Given the description of an element on the screen output the (x, y) to click on. 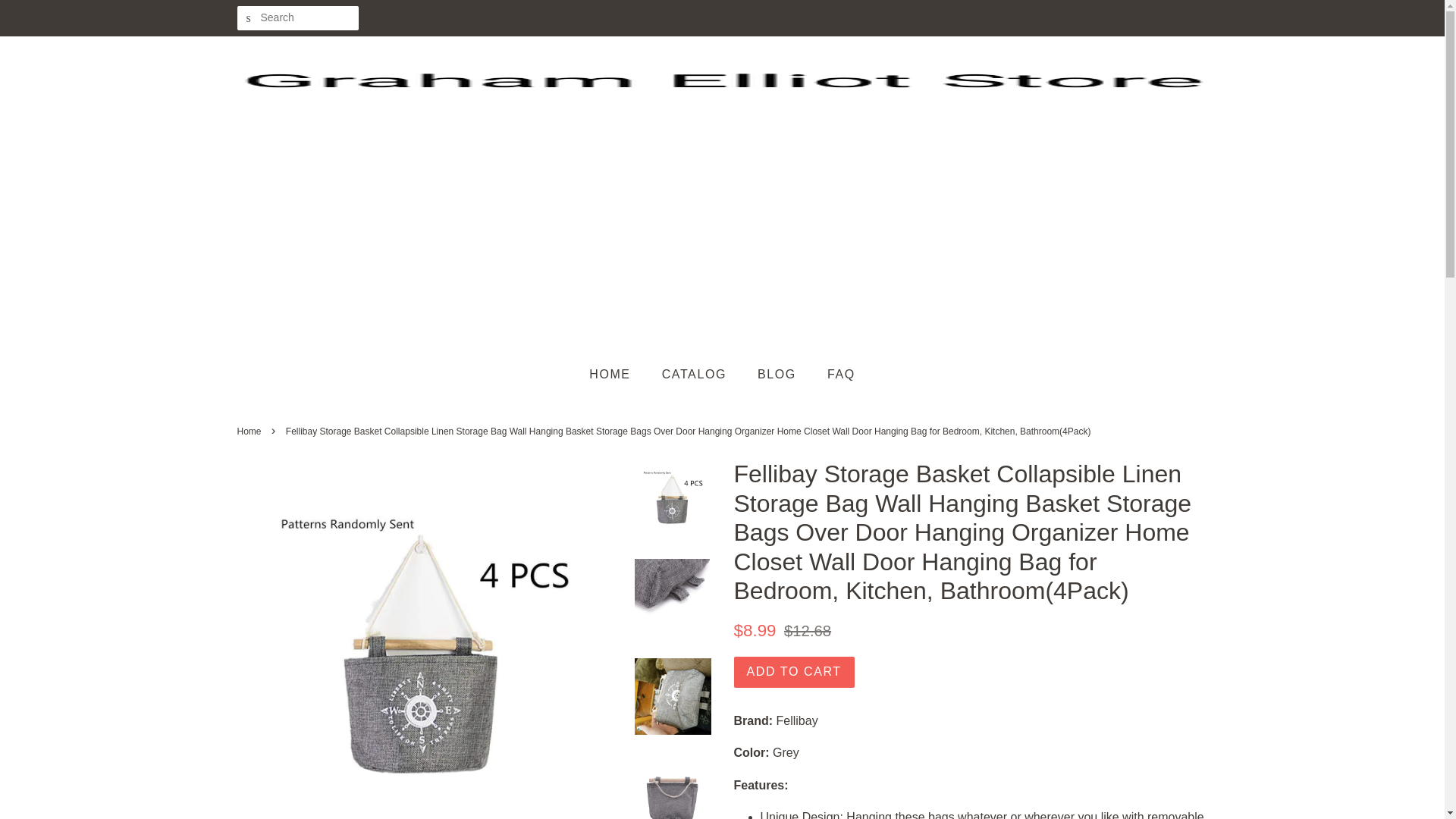
HOME (617, 373)
CATALOG (695, 373)
Home (249, 430)
SEARCH (247, 18)
BLOG (777, 373)
FAQ (835, 373)
Back to the frontpage (249, 430)
ADD TO CART (793, 671)
